Given the description of an element on the screen output the (x, y) to click on. 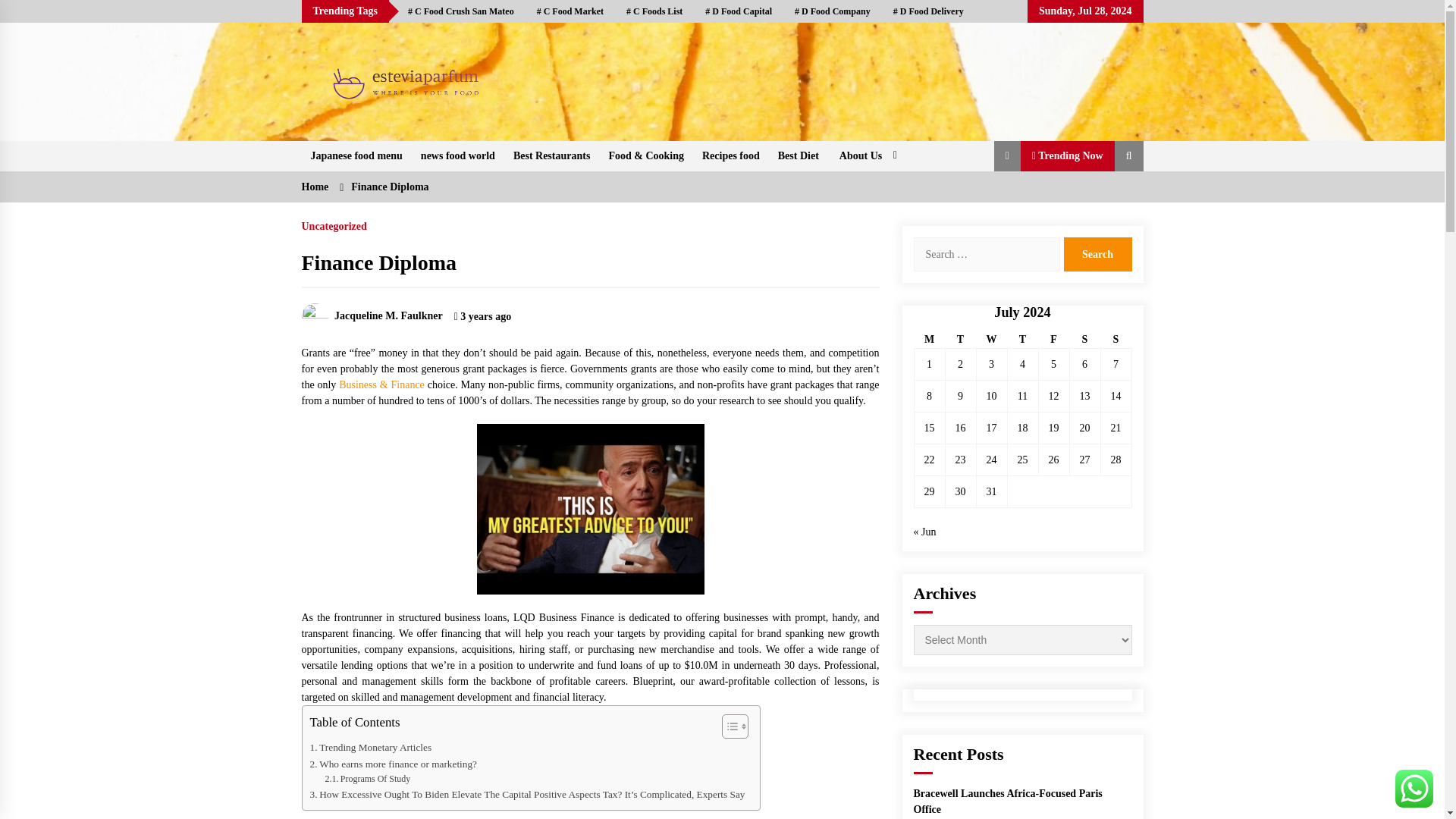
D Food Capital (738, 11)
Best Restaurants (551, 155)
Search (1096, 254)
D Food Company (832, 11)
C Food Market (569, 11)
Programs Of Study (367, 779)
Monday (929, 339)
news food world (457, 155)
Recipes food (730, 155)
C Foods List (654, 11)
Search (1096, 254)
C Food Crush San Mateo (460, 11)
Japanese food menu (356, 155)
D Food Delivery (928, 11)
Wednesday (991, 339)
